Given the description of an element on the screen output the (x, y) to click on. 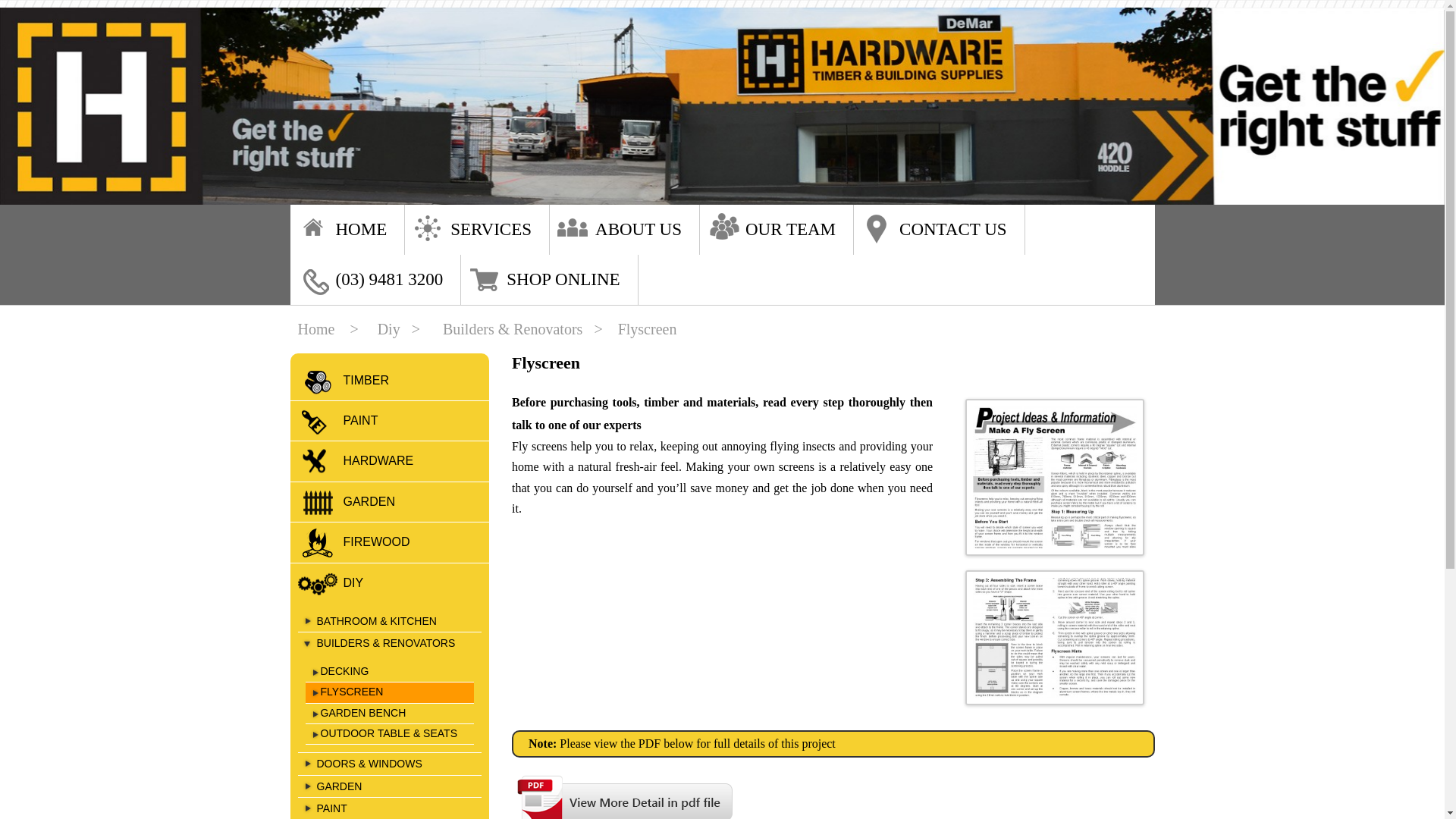
SERVICES Element type: text (490, 229)
TIMBER Element type: text (389, 380)
ABOUT US Element type: text (638, 229)
BATHROOM & KITCHEN Element type: text (389, 620)
GARDEN Element type: text (389, 786)
PAINT Element type: text (389, 420)
CONTACT US Element type: text (953, 229)
GARDEN BENCH Element type: text (388, 713)
FLYSCREEN Element type: text (388, 692)
DECKING Element type: text (388, 671)
GARDEN Element type: text (389, 501)
Home    > Element type: text (327, 328)
HARDWARE Element type: text (389, 460)
DIY Element type: text (389, 582)
Builders & Renovators Element type: text (512, 328)
BUILDERS & RENOVATORS Element type: text (389, 642)
HOME Element type: text (361, 229)
FIREWOOD Element type: text (389, 541)
OUTDOOR TABLE & SEATS Element type: text (388, 733)
Diy Element type: text (388, 328)
DOORS & WINDOWS Element type: text (389, 763)
(03) 9481 3200 Element type: text (389, 279)
OUR TEAM Element type: text (790, 229)
SHOP ONLINE Element type: text (562, 279)
